Given the description of an element on the screen output the (x, y) to click on. 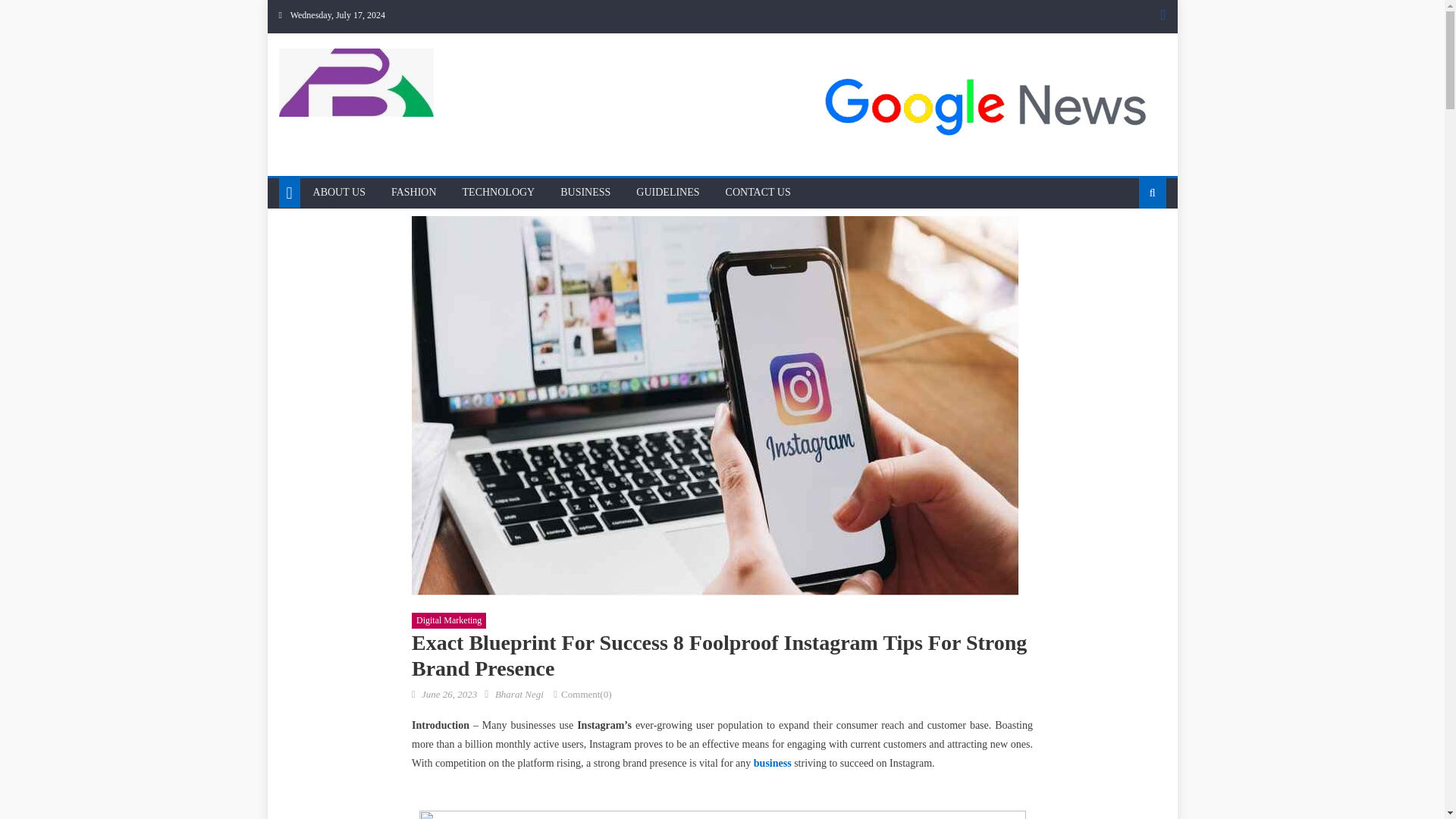
Digital Marketing (449, 620)
business (773, 763)
TECHNOLOGY (499, 192)
Bharat Negi (519, 694)
FASHION (414, 192)
BUSINESS (584, 192)
GUIDELINES (667, 192)
June 26, 2023 (449, 694)
ABOUT US (339, 192)
Search (1128, 241)
CONTACT US (758, 192)
